Given the description of an element on the screen output the (x, y) to click on. 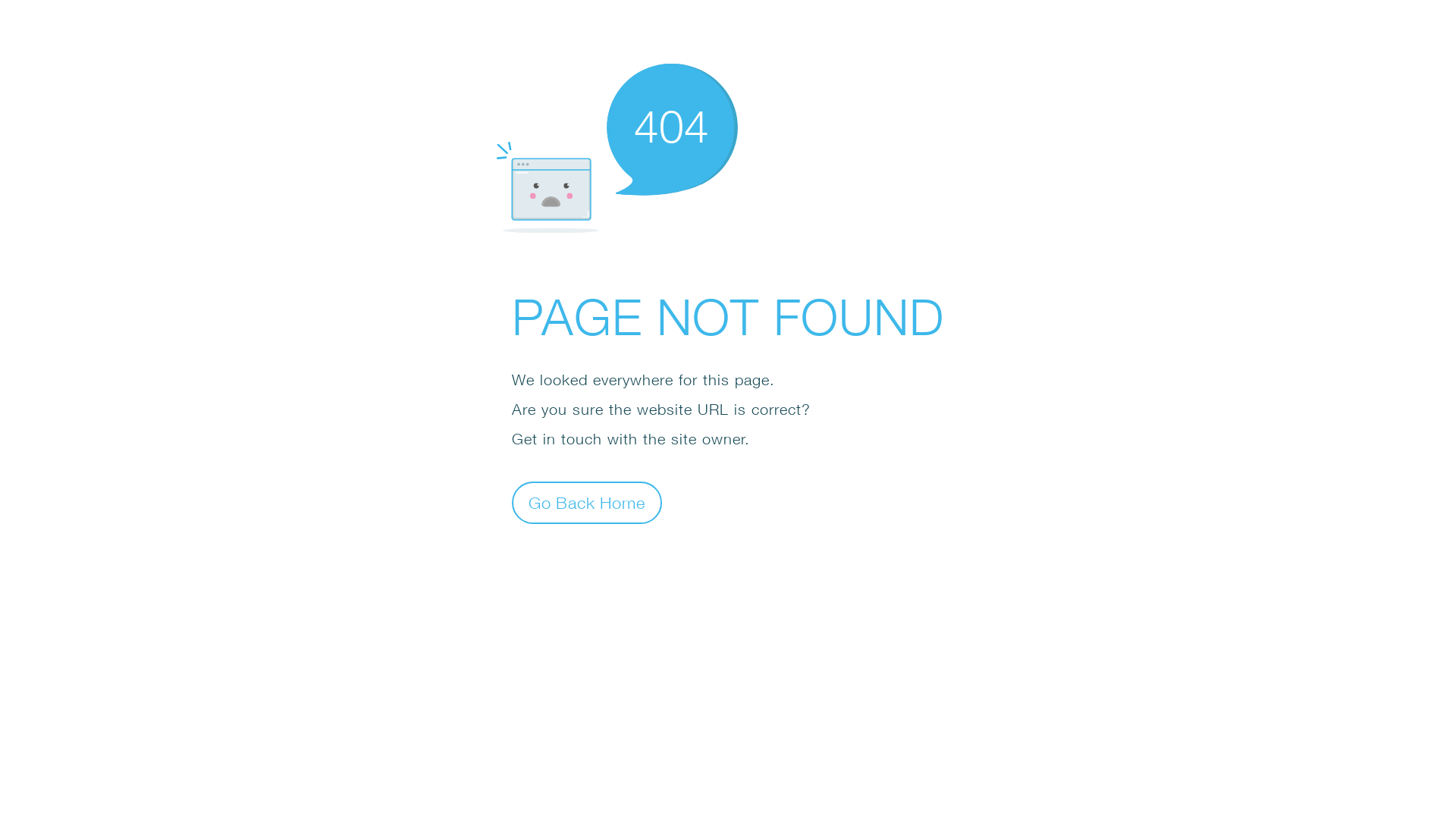
Go Back Home Element type: text (586, 502)
